Given the description of an element on the screen output the (x, y) to click on. 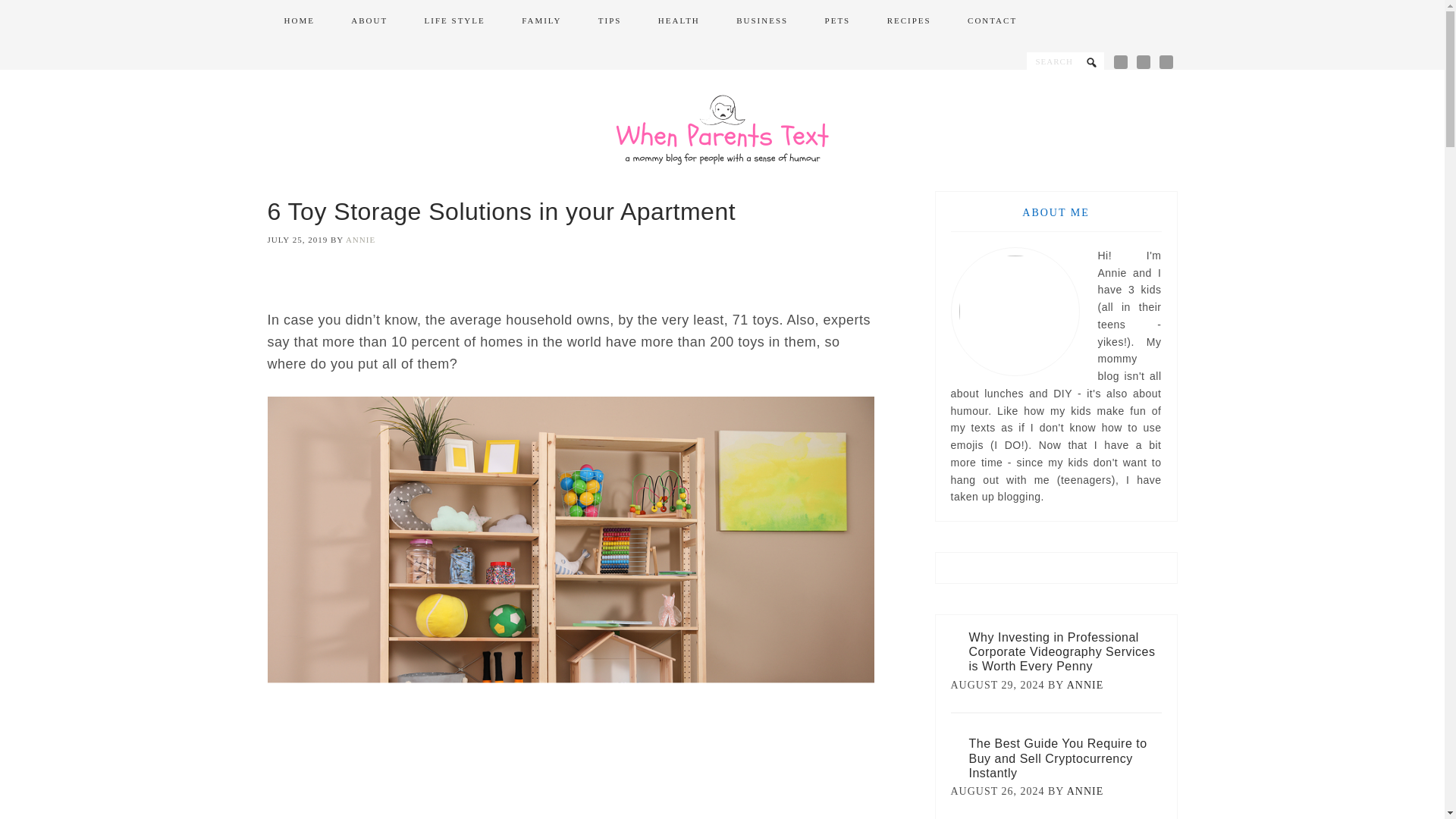
ANNIE (1085, 790)
PETS (837, 20)
BUSINESS (762, 20)
HEALTH (679, 20)
ANNIE (1085, 685)
LIFE STYLE (454, 20)
FAMILY (541, 20)
TIPS (609, 20)
CONTACT (991, 20)
